Given the description of an element on the screen output the (x, y) to click on. 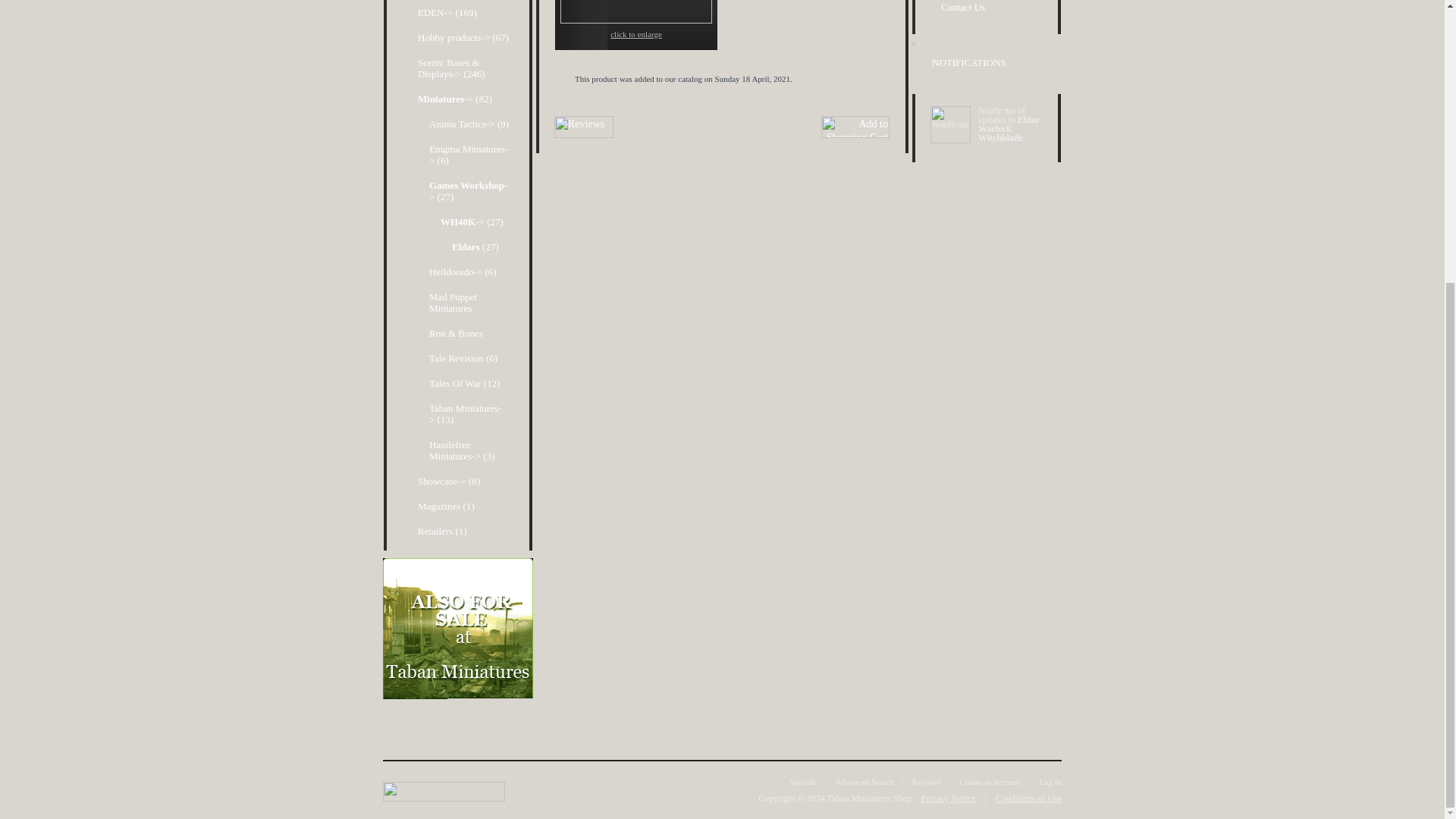
 Add to Shopping Cart  (855, 127)
 Notifications  (950, 124)
 Eldar Warlock Witchblade  (635, 11)
Mad Puppet Miniatures (466, 302)
 Reviews  (583, 127)
click to enlarge (636, 24)
